Given the description of an element on the screen output the (x, y) to click on. 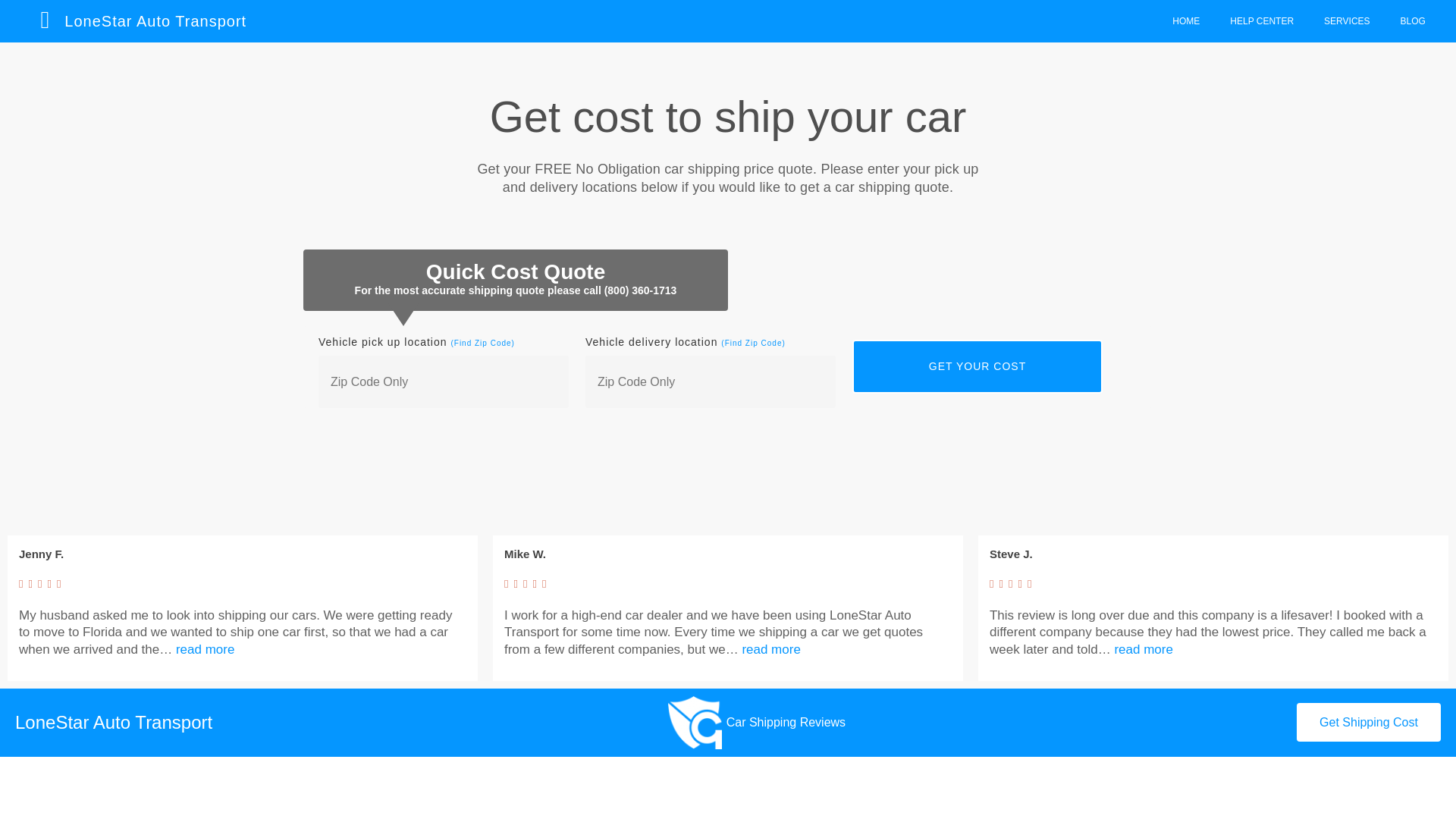
LoneStar Auto Transport (155, 21)
HELP CENTER (1261, 21)
HOME (1185, 21)
Get Your Cost (976, 366)
